Given the description of an element on the screen output the (x, y) to click on. 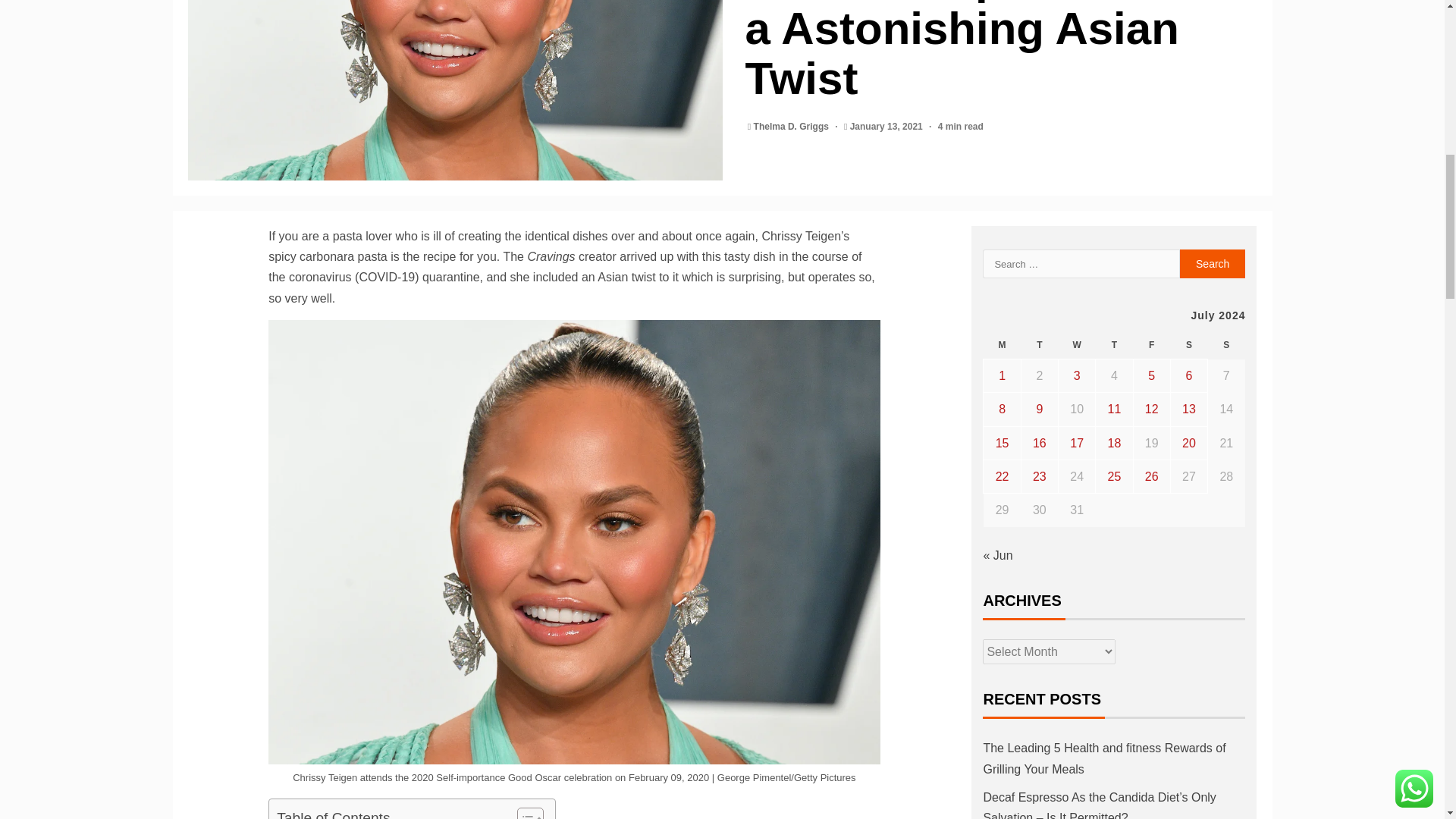
Search (1212, 263)
Thelma D. Griggs (792, 126)
Search (1212, 263)
